Given the description of an element on the screen output the (x, y) to click on. 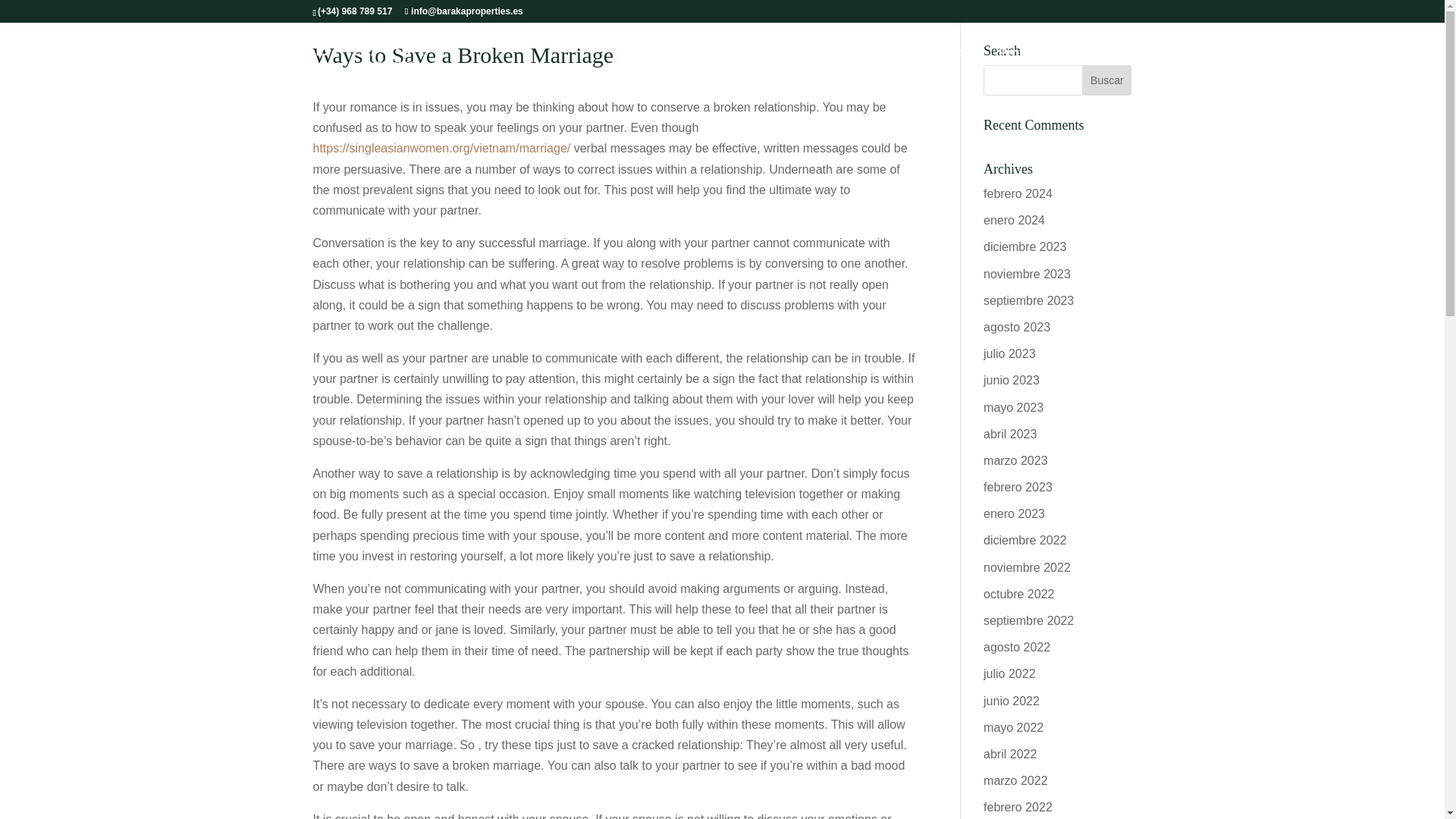
agosto 2022 (1016, 646)
junio 2023 (1011, 379)
noviembre 2023 (1027, 273)
febrero 2024 (1018, 193)
abril 2022 (1010, 753)
marzo 2023 (1016, 460)
diciembre 2023 (1024, 246)
julio 2022 (1009, 673)
junio 2022 (1011, 700)
diciembre 2022 (1024, 540)
Buscar (1106, 80)
marzo 2022 (1016, 780)
noviembre 2022 (1027, 567)
octubre 2022 (1019, 594)
mayo 2022 (1013, 727)
